Given the description of an element on the screen output the (x, y) to click on. 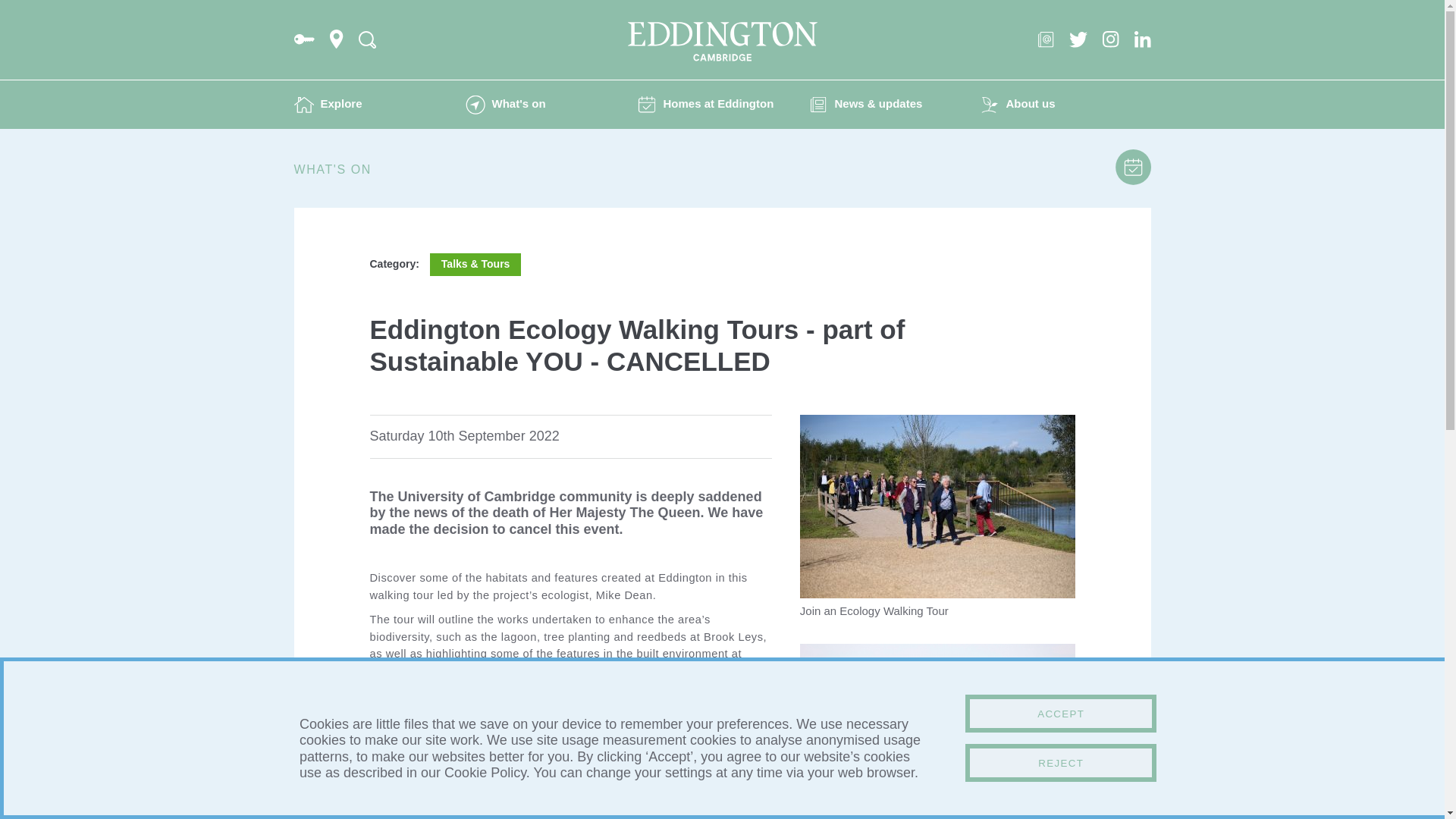
Homes at Eddington (722, 104)
What's on (551, 104)
About us (1065, 104)
Explore (379, 104)
Go to the Eddington homepage (721, 41)
